Given the description of an element on the screen output the (x, y) to click on. 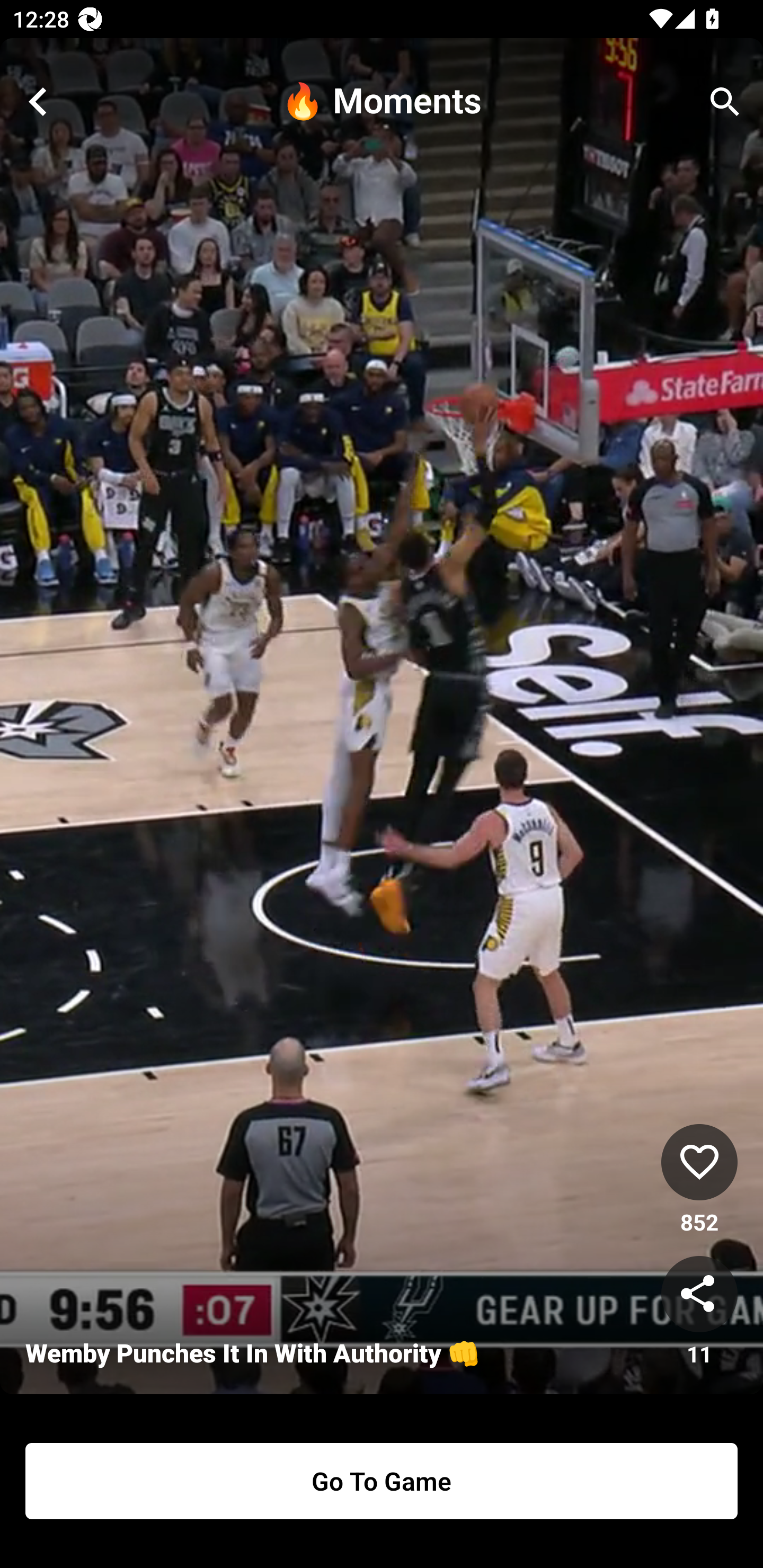
close (38, 101)
search (724, 101)
like 852 852 Likes (699, 1180)
share 11 11 Shares (699, 1311)
Go To Game (381, 1480)
